Given the description of an element on the screen output the (x, y) to click on. 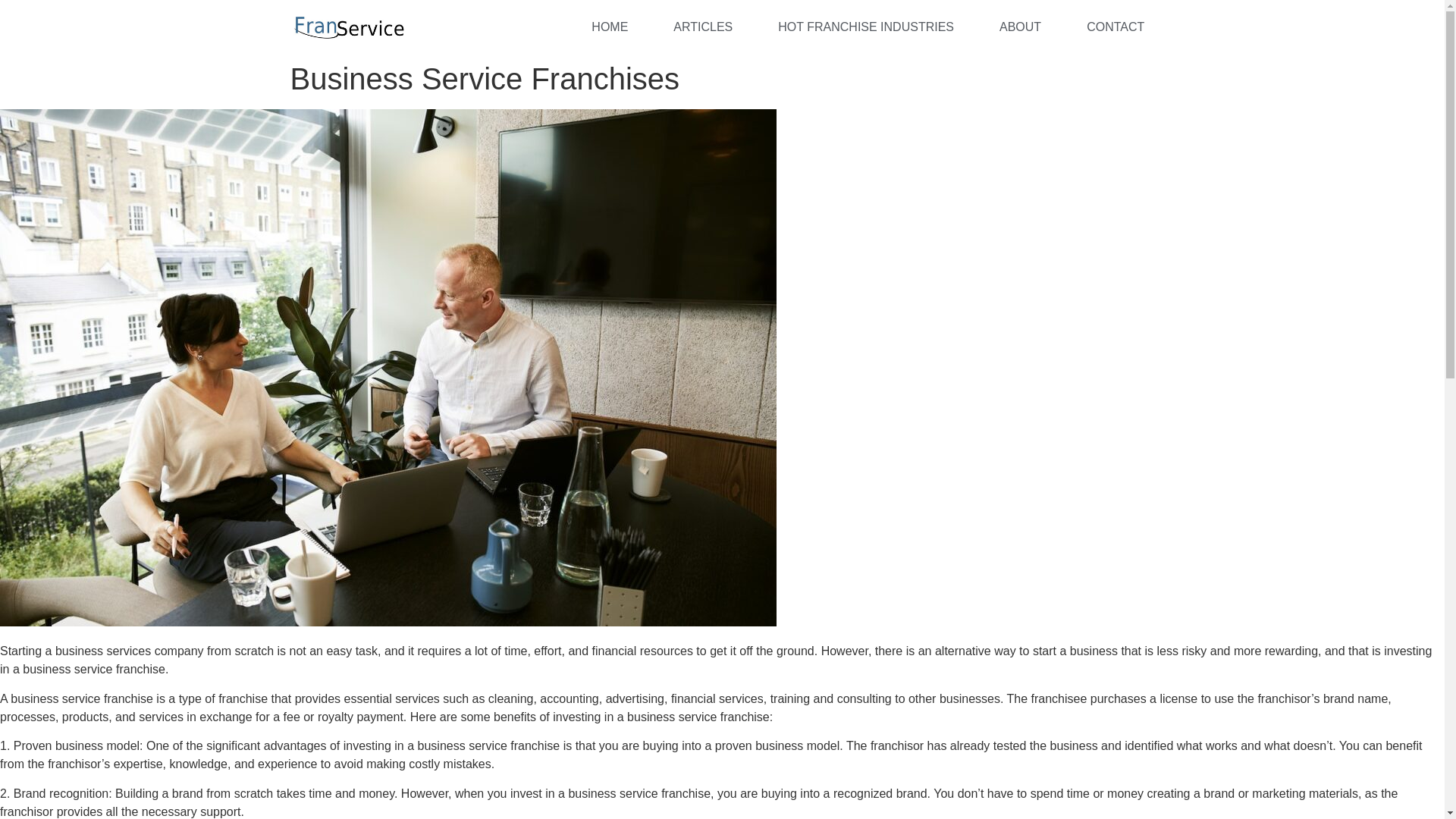
BOOK NOW (1118, 27)
CONTACT (1114, 26)
ABOUT (1019, 26)
HOME (608, 26)
ARTICLES (702, 26)
HOT FRANCHISE INDUSTRIES (865, 26)
